Given the description of an element on the screen output the (x, y) to click on. 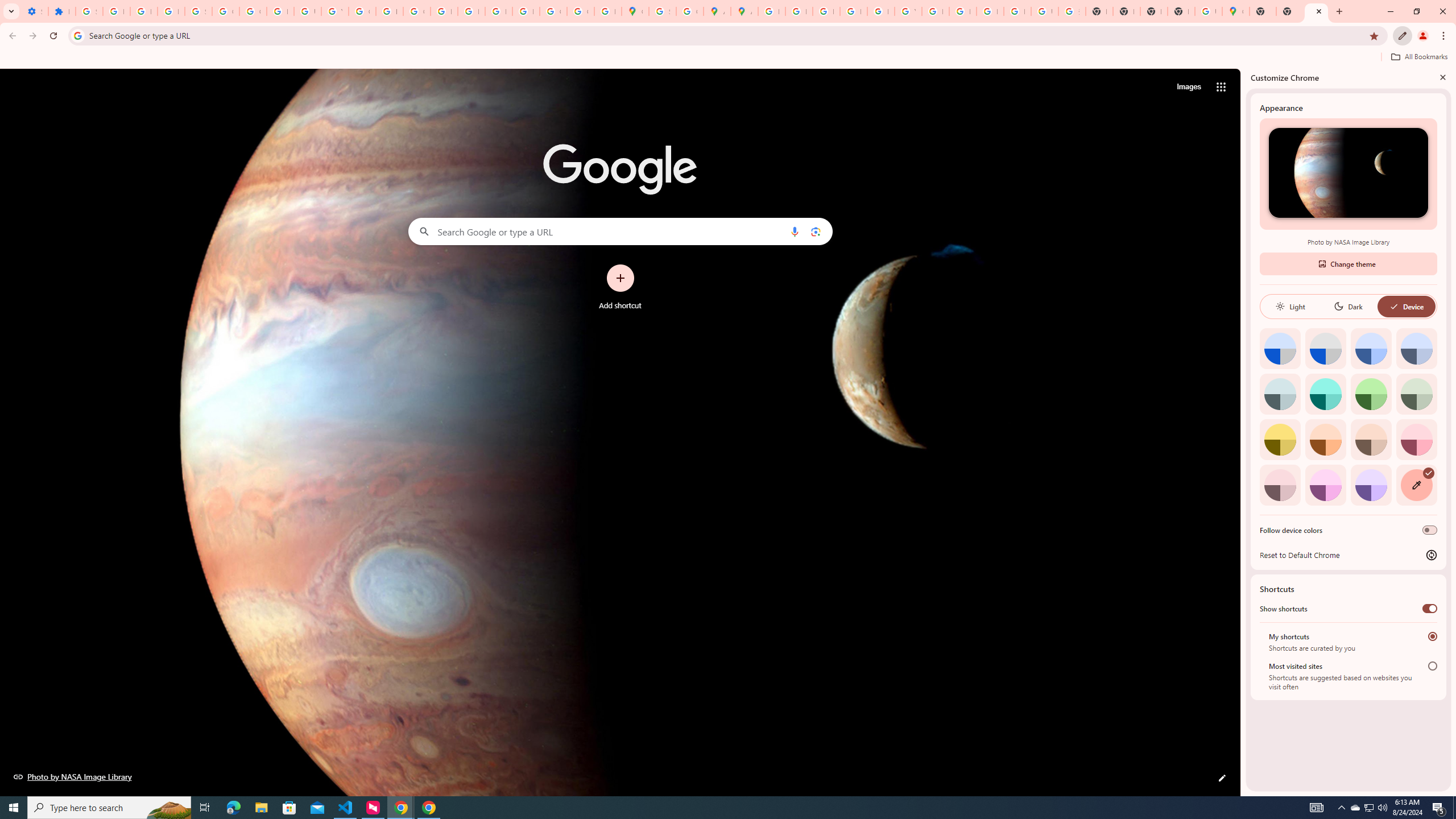
Google Account Help (253, 11)
Reset to Default Chrome (1347, 554)
Default color (1279, 348)
